Given the description of an element on the screen output the (x, y) to click on. 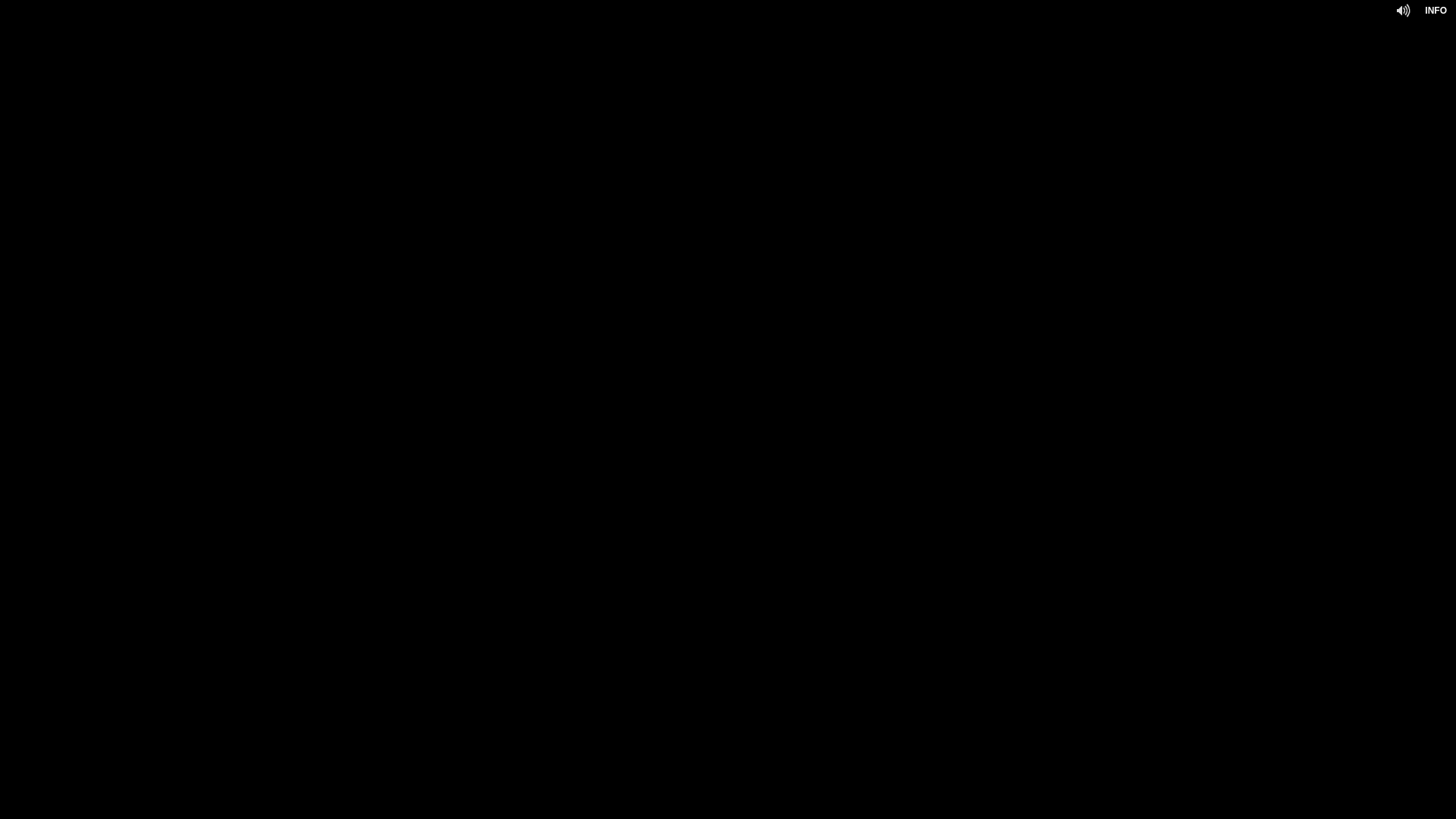
INFO Element type: text (1435, 10)
